Given the description of an element on the screen output the (x, y) to click on. 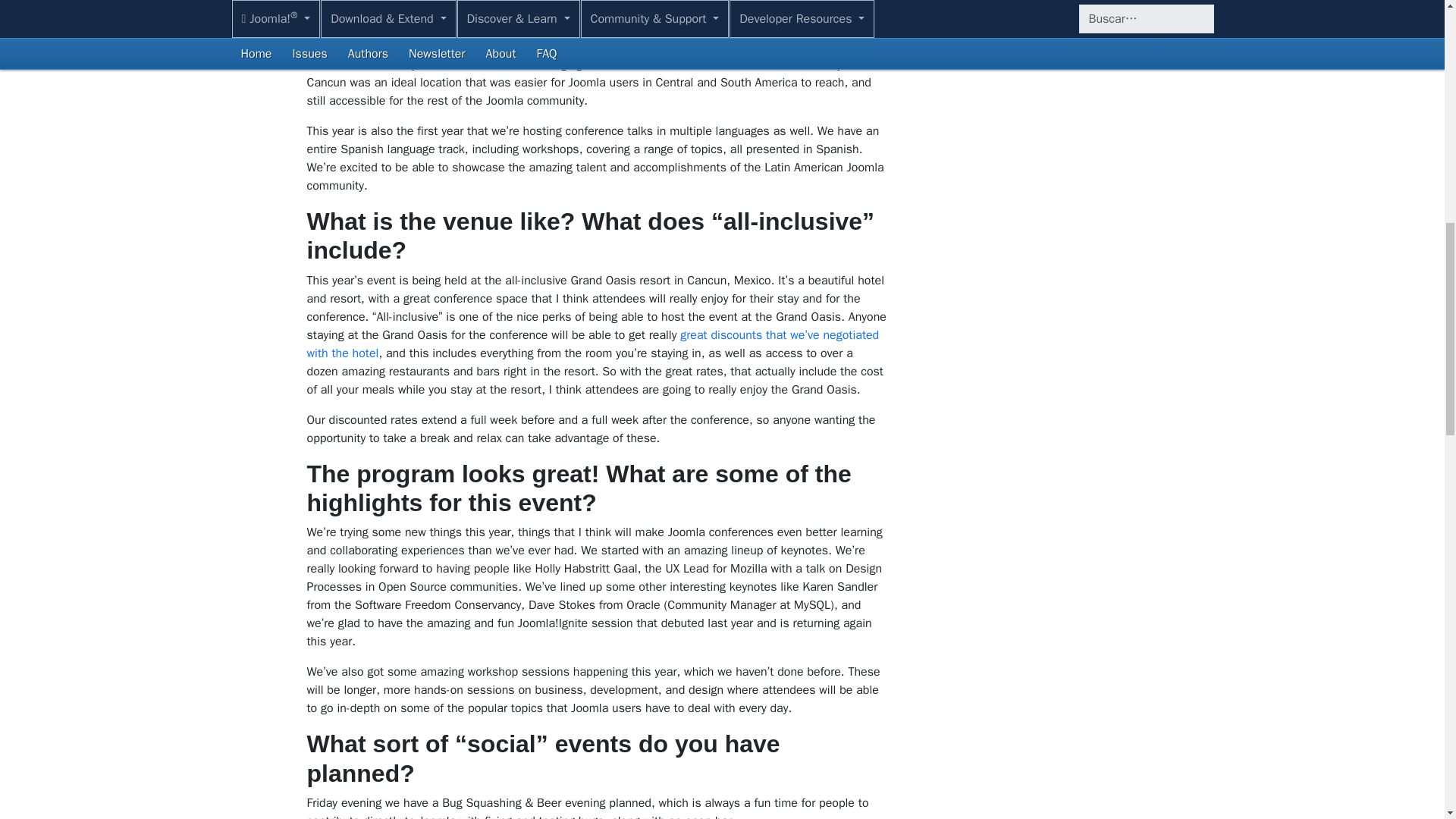
Suscribirse (1034, 27)
